Given the description of an element on the screen output the (x, y) to click on. 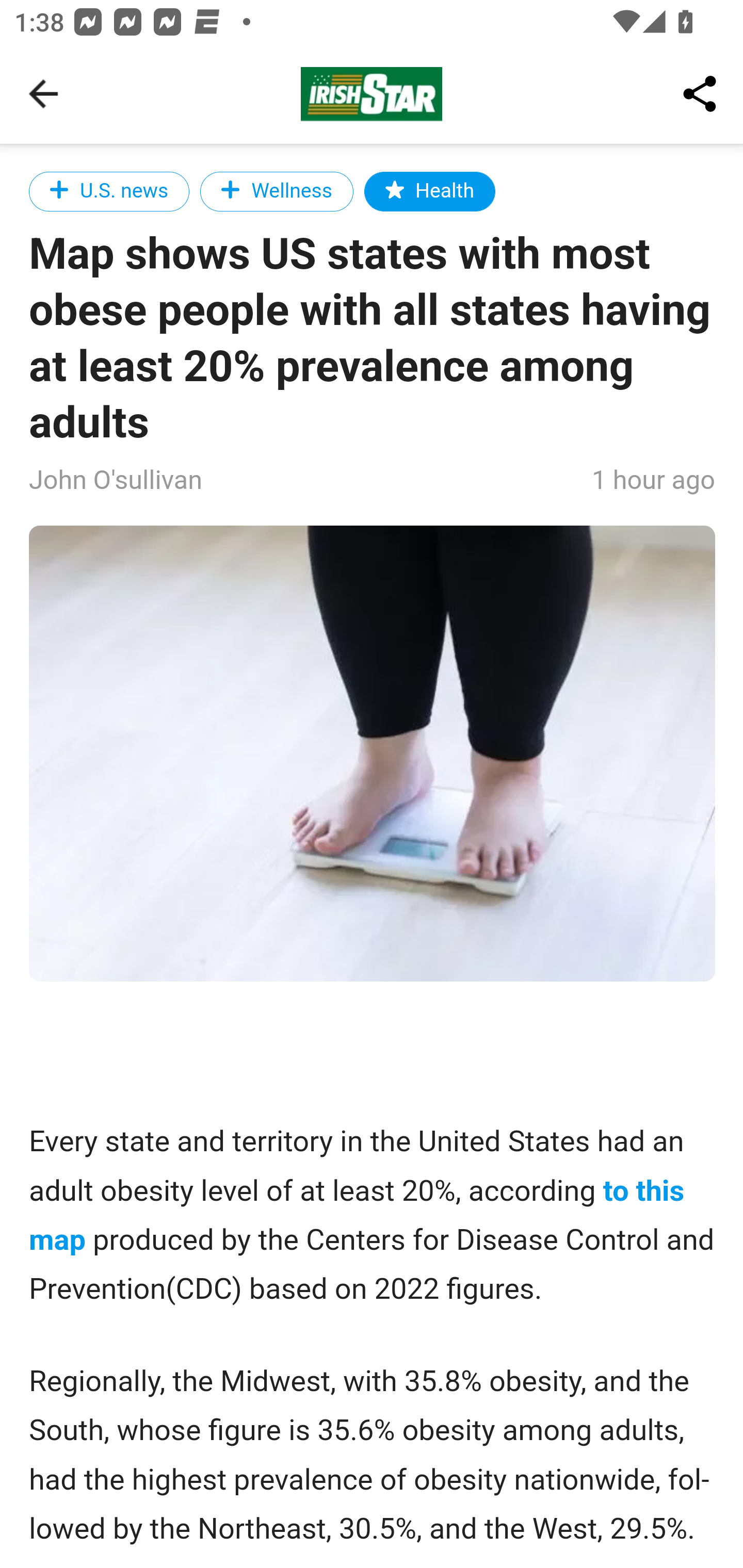
U.S. news (109, 191)
Wellness (275, 191)
Health (429, 191)
to this map (357, 1215)
